Given the description of an element on the screen output the (x, y) to click on. 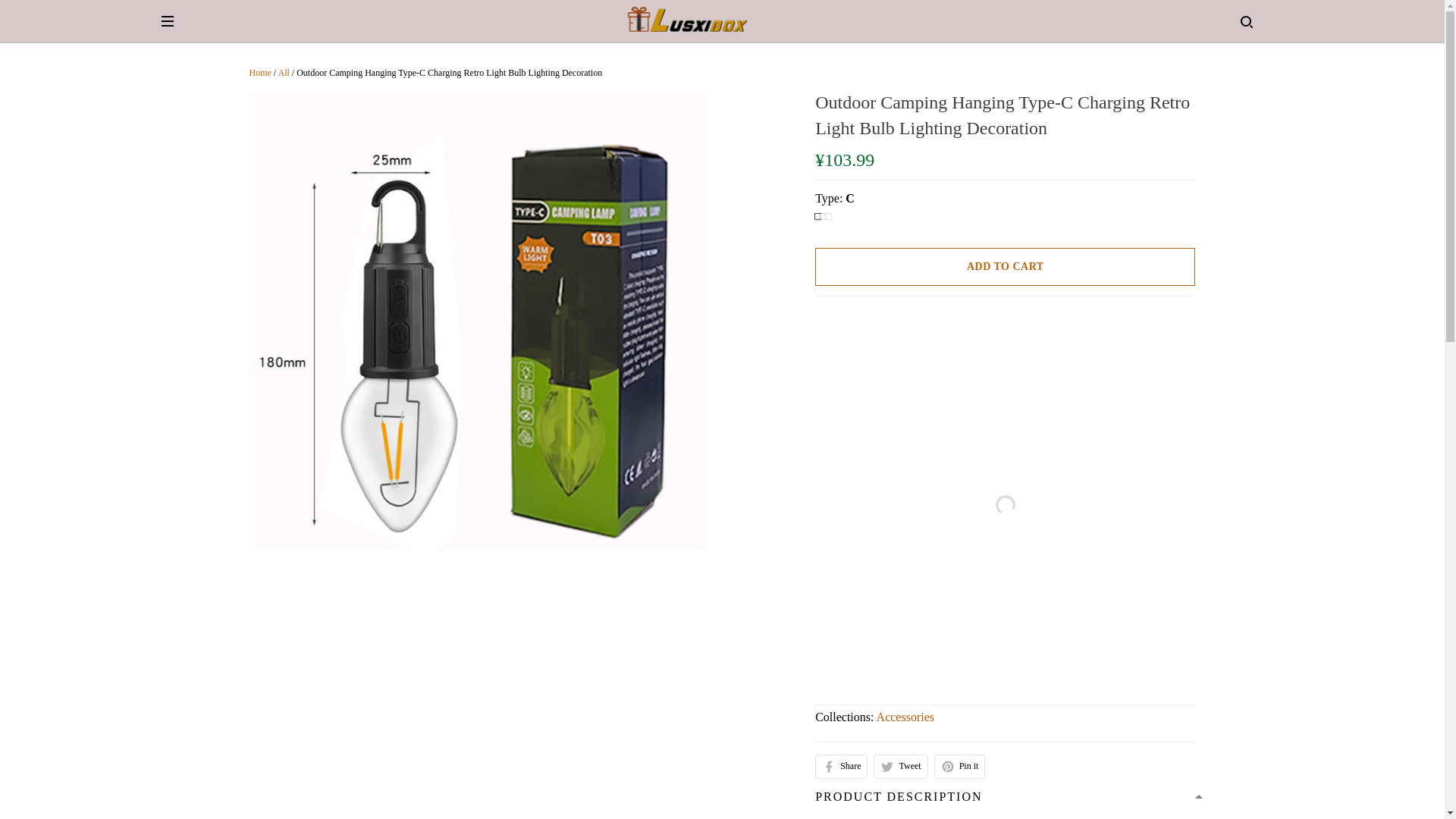
Share on Facebook (841, 766)
Tweet (900, 766)
All (283, 72)
Pin it (959, 766)
Share (841, 766)
Home (259, 72)
Share on Twitter (900, 766)
Accessories (905, 716)
Pin on Pinterest (959, 766)
ADD TO CART (1005, 266)
